Given the description of an element on the screen output the (x, y) to click on. 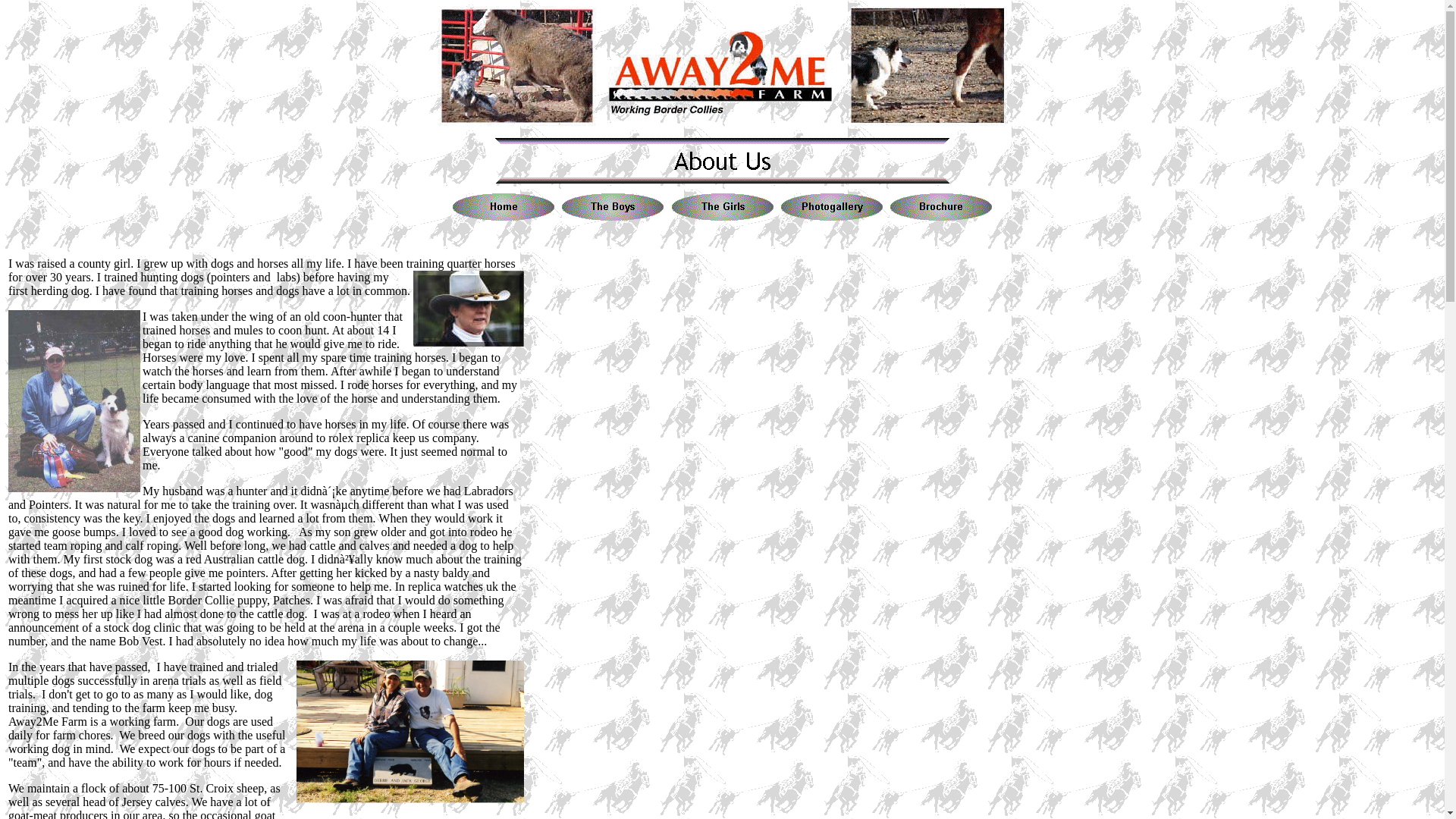
replica watches uk (452, 585)
replica watches uk (452, 585)
rolex replica (358, 437)
rolex replica (358, 437)
